Given the description of an element on the screen output the (x, y) to click on. 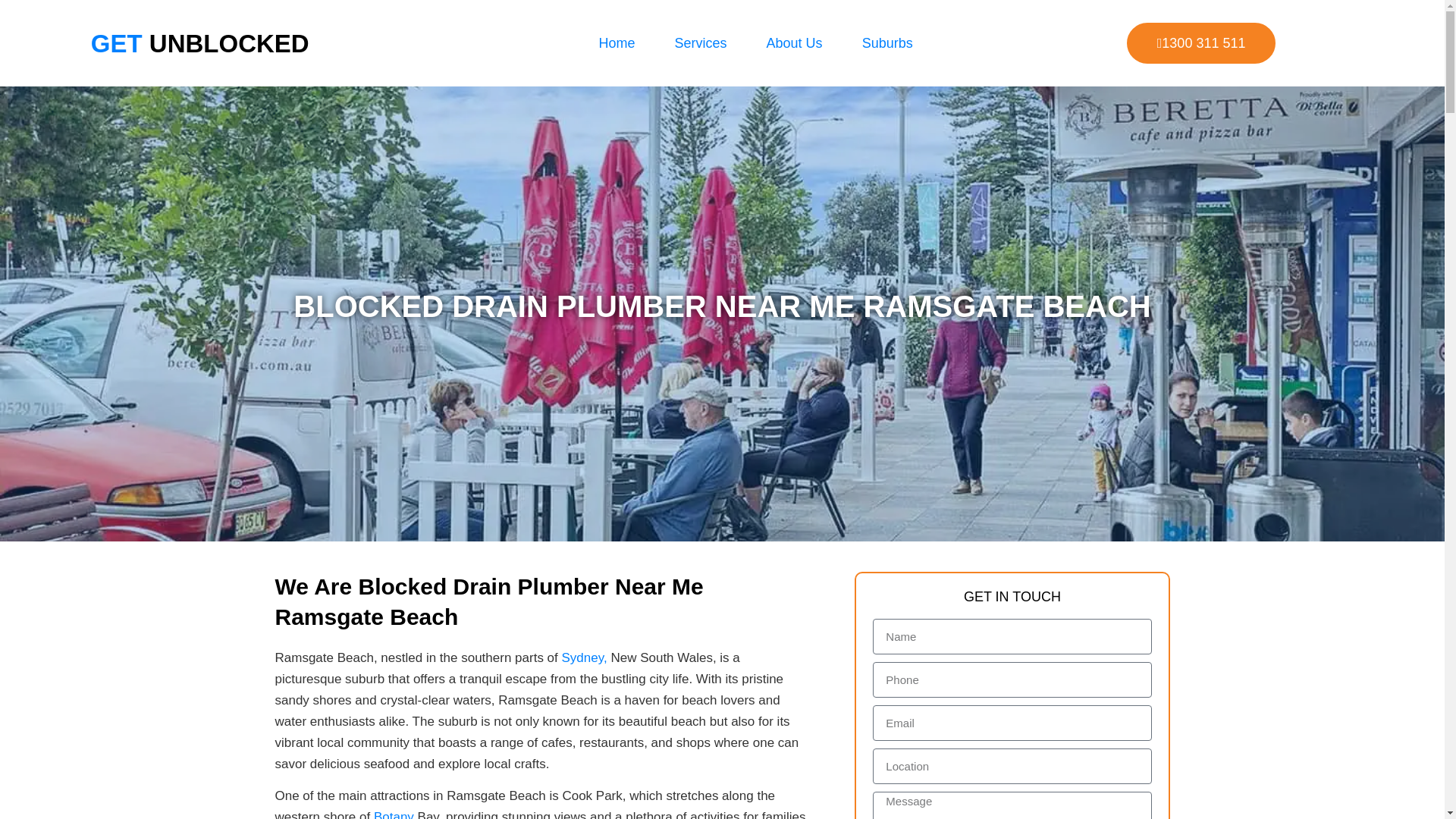
GET UNBLOCKED (199, 42)
Suburbs (887, 43)
Home (617, 43)
About Us (794, 43)
Services (700, 43)
